Given the description of an element on the screen output the (x, y) to click on. 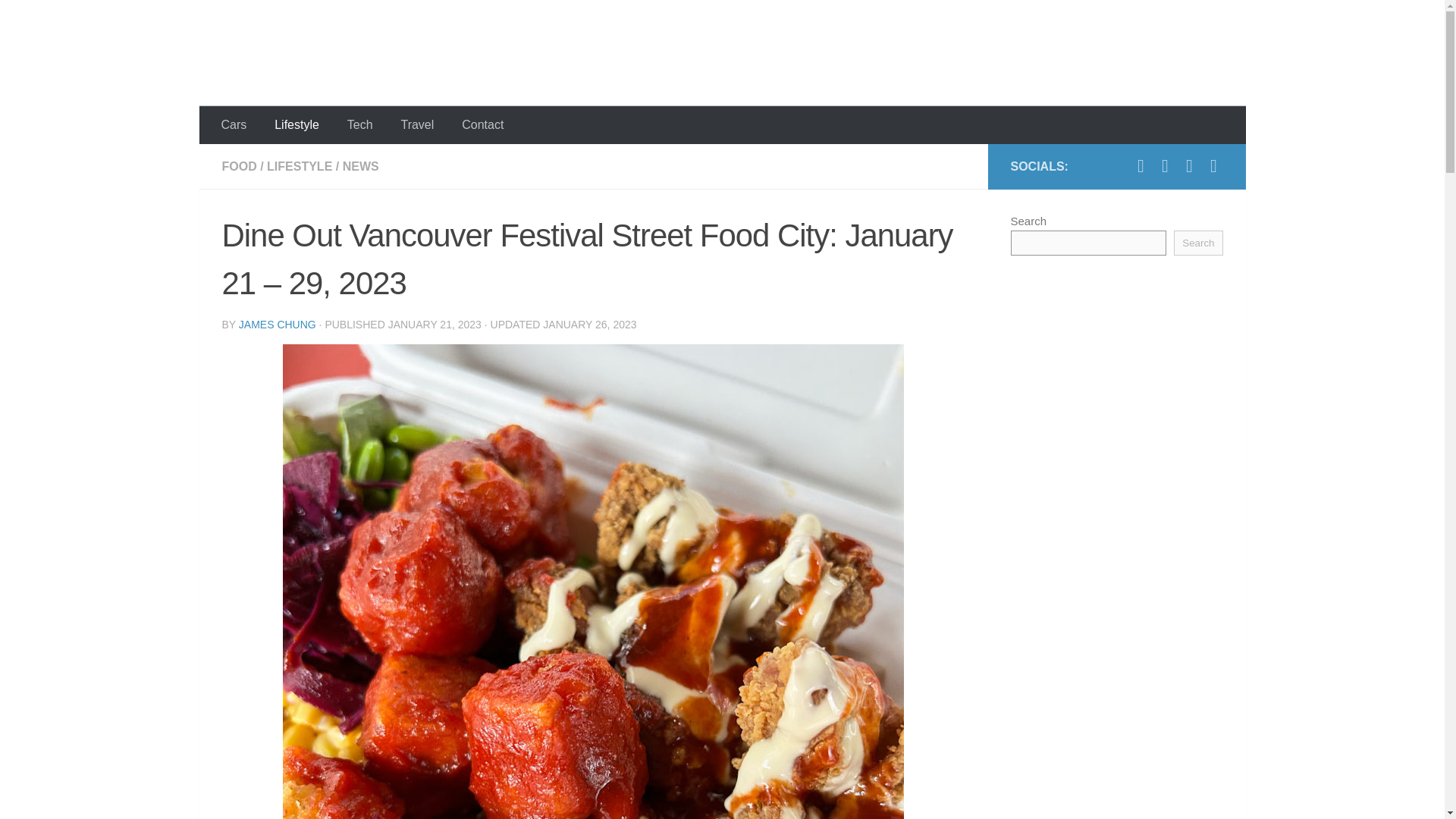
Follow us on Tiktok (1164, 166)
Tech (360, 125)
Skip to content (63, 20)
NEWS (360, 165)
Lifestyle (296, 125)
Follow us on Facebook (1188, 166)
LIFESTYLE (298, 165)
Cars (234, 125)
Travel (417, 125)
Follow us on Instagram (1140, 166)
JAMES CHUNG (276, 324)
Follow us on Twitter (1213, 166)
FOOD (238, 165)
Search (1198, 242)
Posts by James Chung (276, 324)
